Given the description of an element on the screen output the (x, y) to click on. 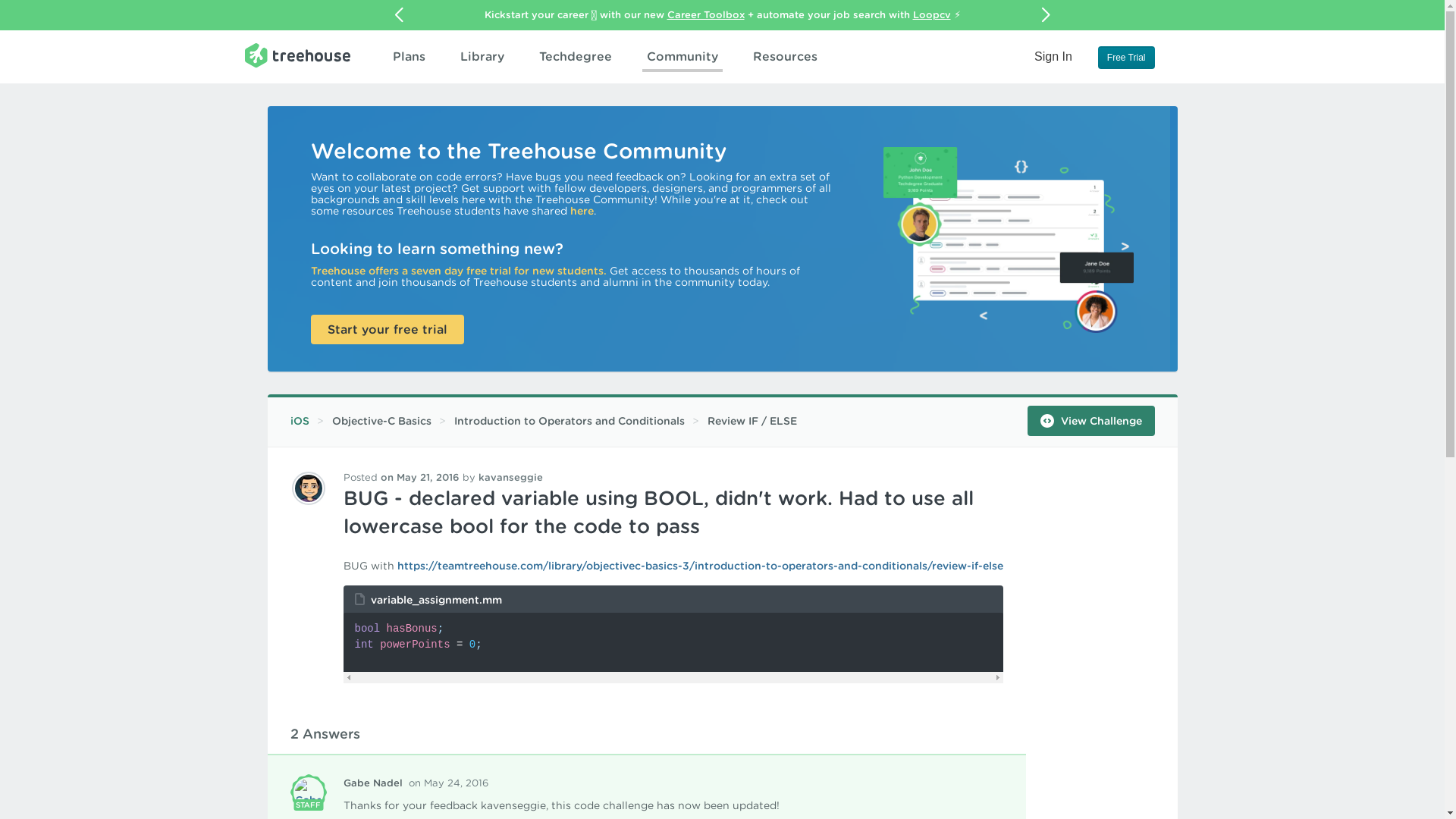
Career Toolbox (705, 14)
Plans (408, 56)
Treehouse Logo (296, 55)
May 21, 2016 at 5:24pm CST (420, 477)
Loopcv (931, 14)
May 24, 2016 at 12:29am CST (447, 782)
seal-mask (307, 791)
Treehouse Logo (296, 55)
